Given the description of an element on the screen output the (x, y) to click on. 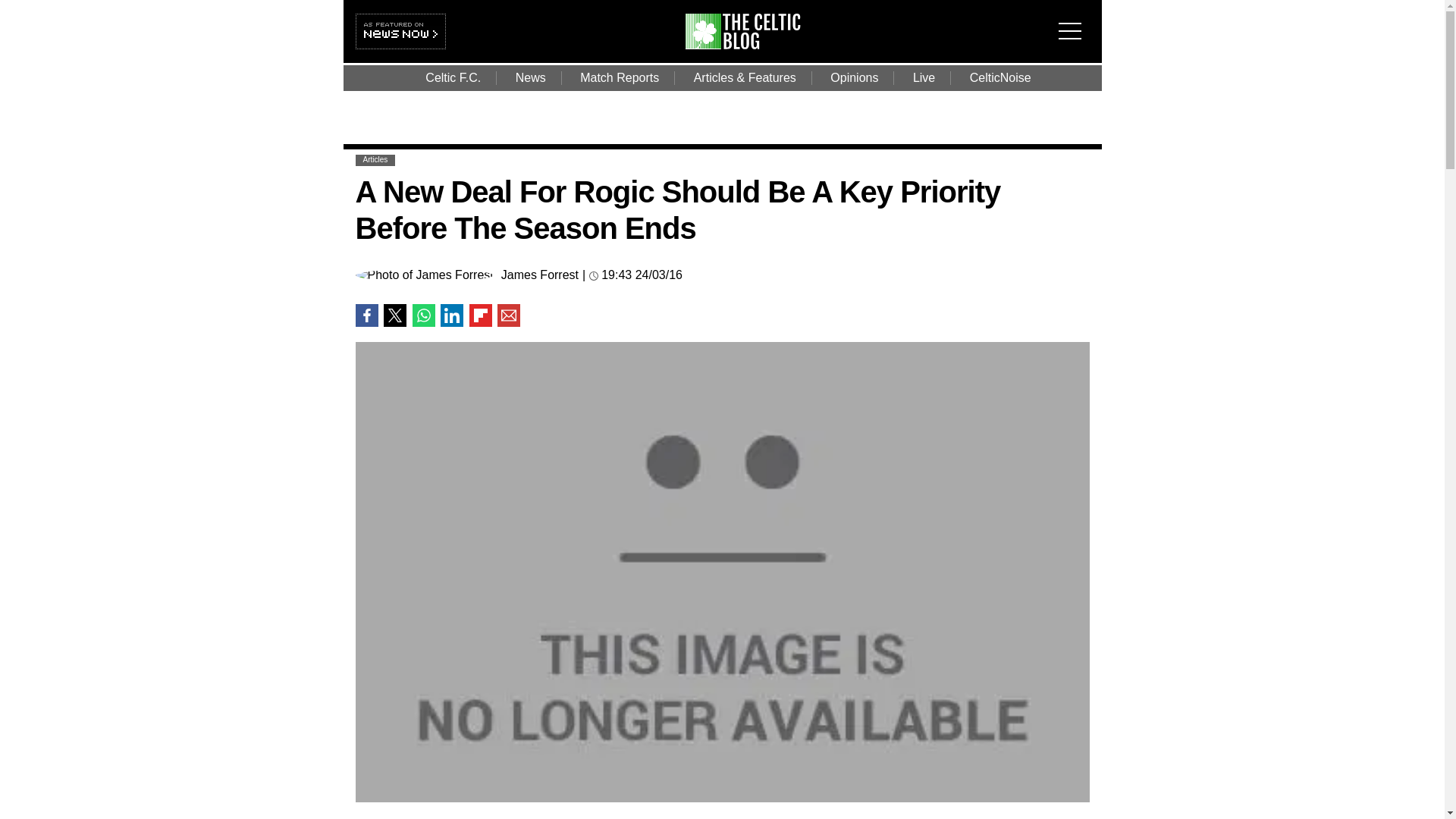
Articles (374, 159)
News (530, 78)
Celtic F.C. (453, 78)
share on LinkedIn (452, 314)
Match Reports (619, 78)
CelticNoise (1000, 78)
Back to the homepage (751, 44)
share on Twitter (395, 314)
share on WhatsApp (423, 314)
James Forrest (539, 274)
